Given the description of an element on the screen output the (x, y) to click on. 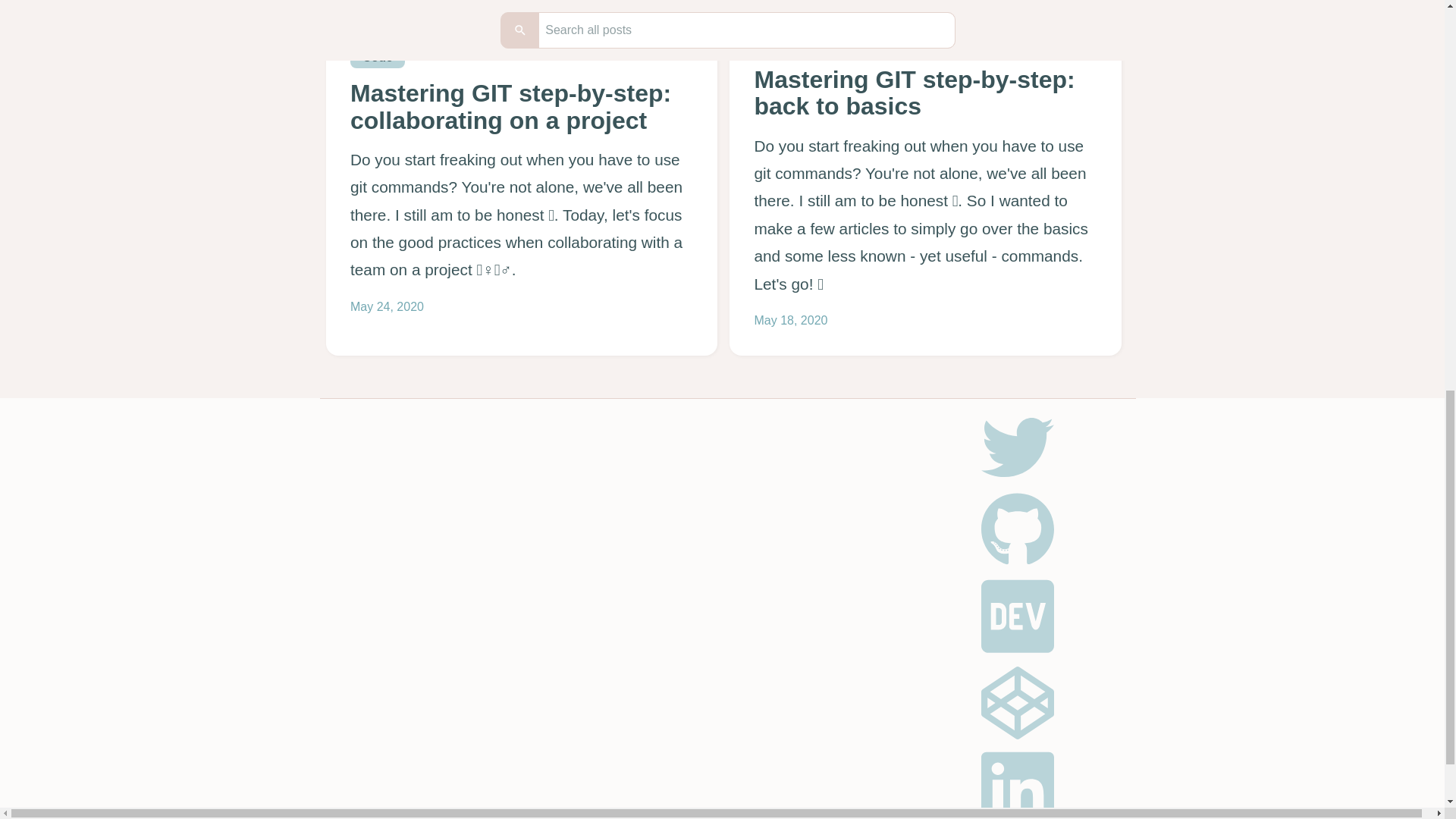
Github profile link (1017, 529)
Dev.to profile link (1026, 652)
Codepen profile link (1017, 702)
Twitter profile link (1017, 447)
Github profile link (1026, 562)
Twitter profile link (1026, 478)
Linkedin profile link (1026, 818)
Linkedin profile link (1017, 782)
Dev.to profile link (1017, 615)
Codepen profile link (1026, 734)
